Given the description of an element on the screen output the (x, y) to click on. 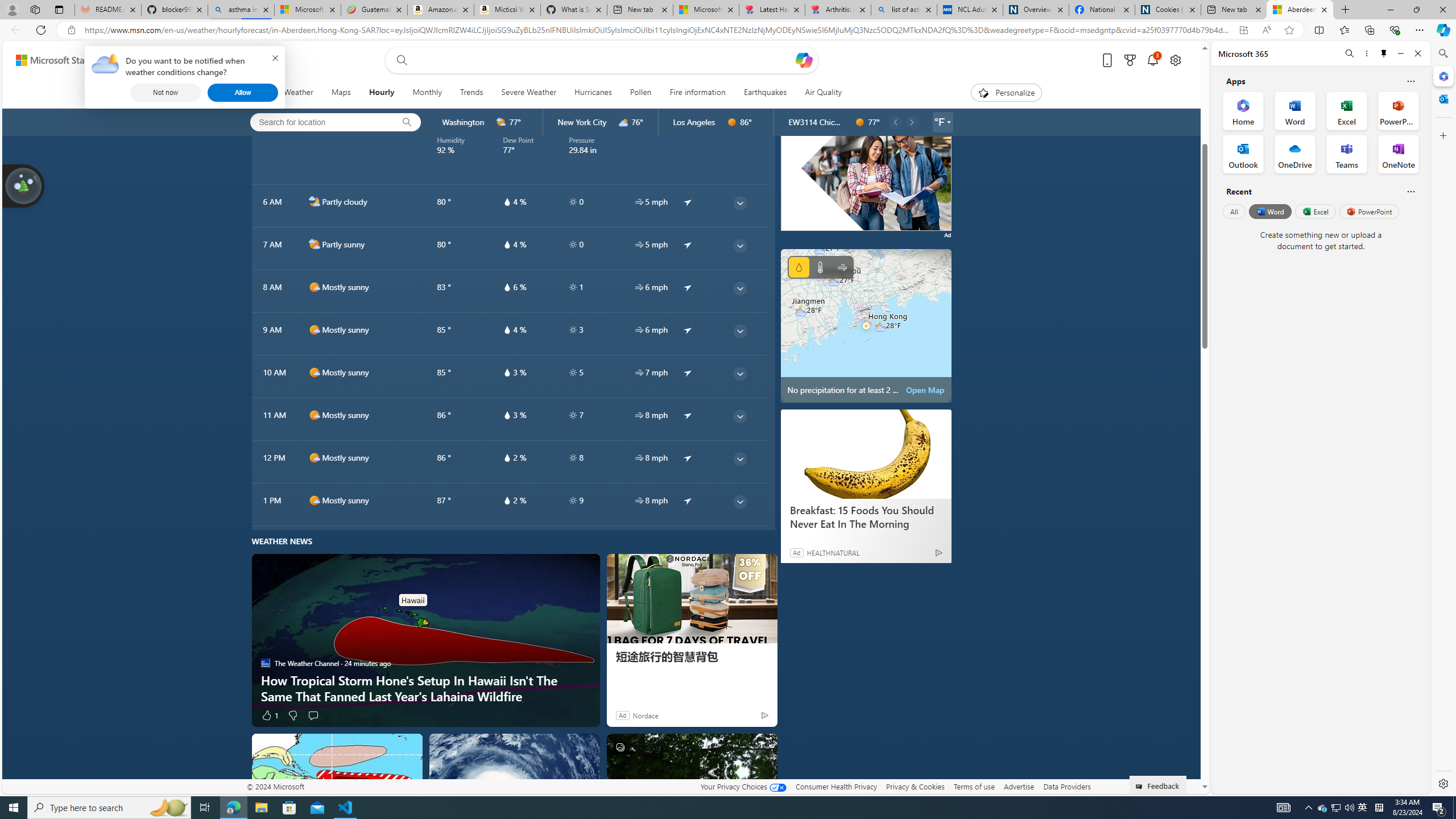
All (1233, 210)
common/thinArrow (739, 501)
Monthly (427, 92)
n2000 (314, 201)
Class: qc-adchoices-icon (946, 93)
PowerPoint (1369, 210)
Temperature (820, 267)
